Given the description of an element on the screen output the (x, y) to click on. 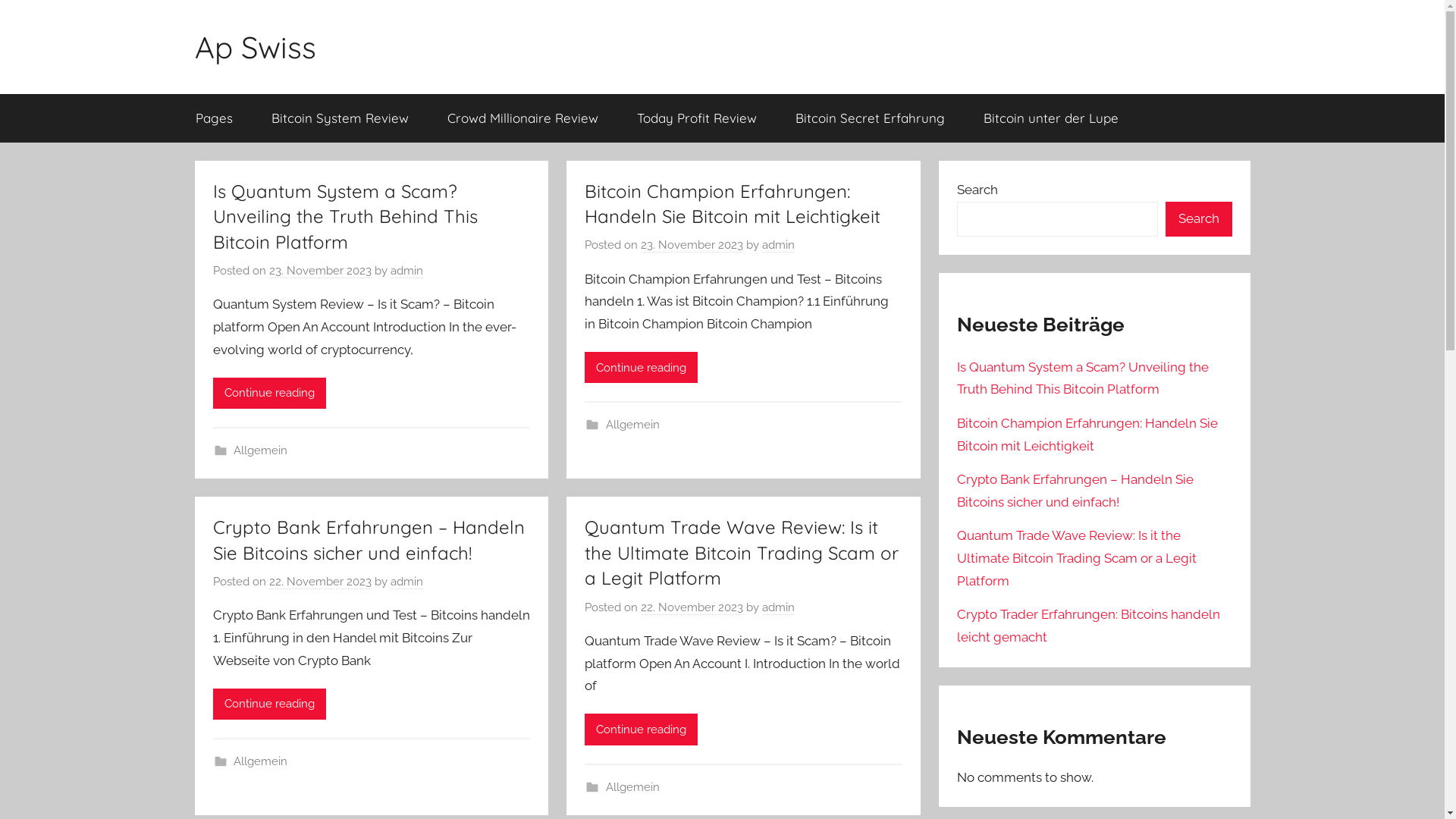
Bitcoin Secret Erfahrung Element type: text (870, 118)
Crypto Trader Erfahrungen: Bitcoins handeln leicht gemacht Element type: text (1088, 625)
Pages Element type: text (213, 118)
22. November 2023 Element type: text (691, 607)
admin Element type: text (405, 270)
Allgemein Element type: text (260, 761)
admin Element type: text (778, 607)
Allgemein Element type: text (632, 786)
Search Element type: text (1197, 219)
22. November 2023 Element type: text (319, 581)
Bitcoin System Review Element type: text (339, 118)
Continue reading Element type: text (268, 703)
23. November 2023 Element type: text (319, 270)
Continue reading Element type: text (640, 366)
Continue reading Element type: text (640, 728)
Continue reading Element type: text (268, 392)
Ap Swiss Element type: text (254, 46)
admin Element type: text (778, 245)
admin Element type: text (405, 581)
Allgemein Element type: text (632, 424)
Allgemein Element type: text (260, 450)
Bitcoin unter der Lupe Element type: text (1051, 118)
Today Profit Review Element type: text (696, 118)
23. November 2023 Element type: text (691, 245)
Crowd Millionaire Review Element type: text (522, 118)
